Given the description of an element on the screen output the (x, y) to click on. 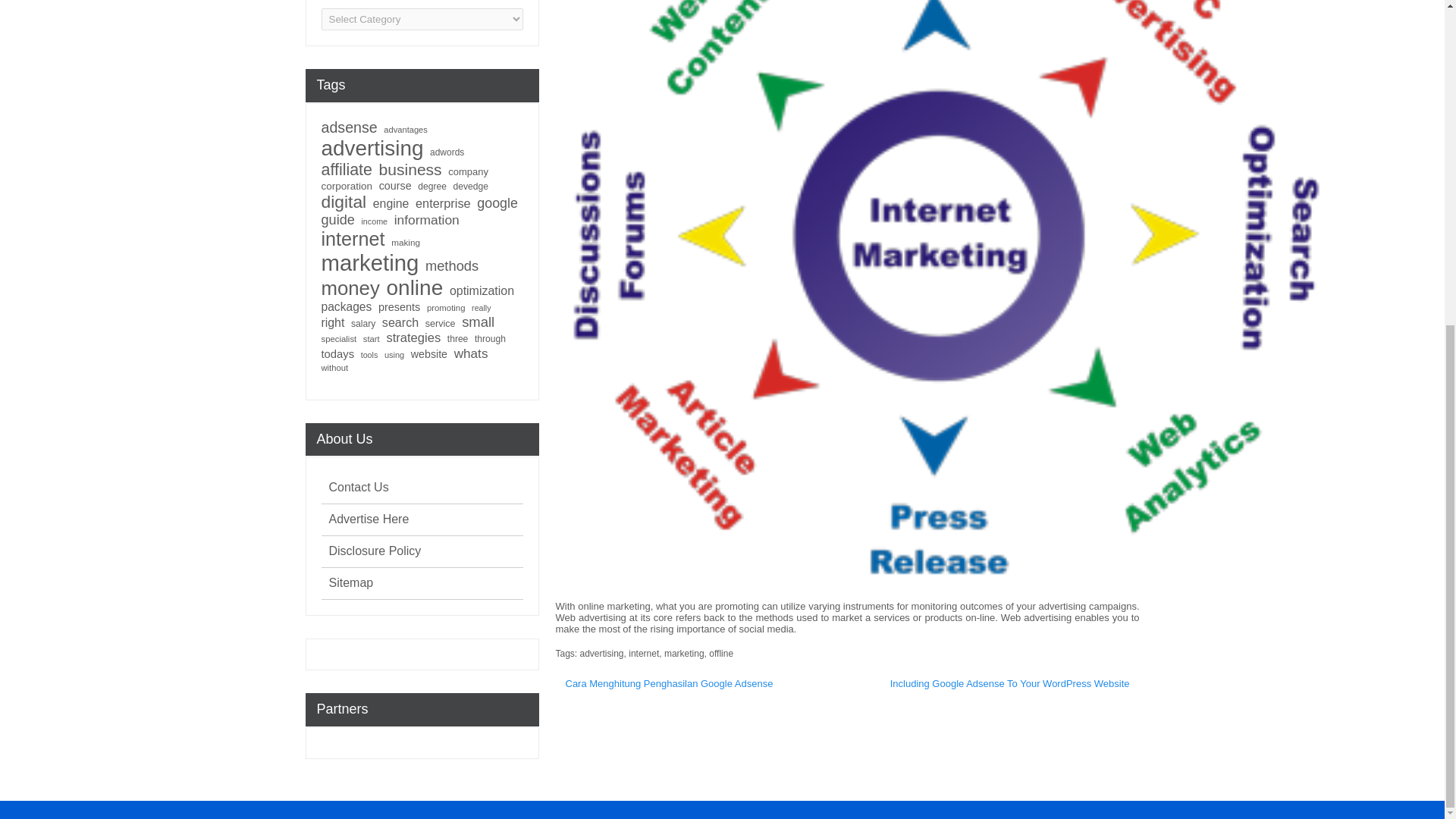
marketing (683, 653)
internet (643, 653)
offline (721, 653)
advertising (601, 653)
Cara Menghitung Penghasilan Google Adsense (668, 684)
Including Google Adsense To Your WordPress Website (1010, 684)
